Given the description of an element on the screen output the (x, y) to click on. 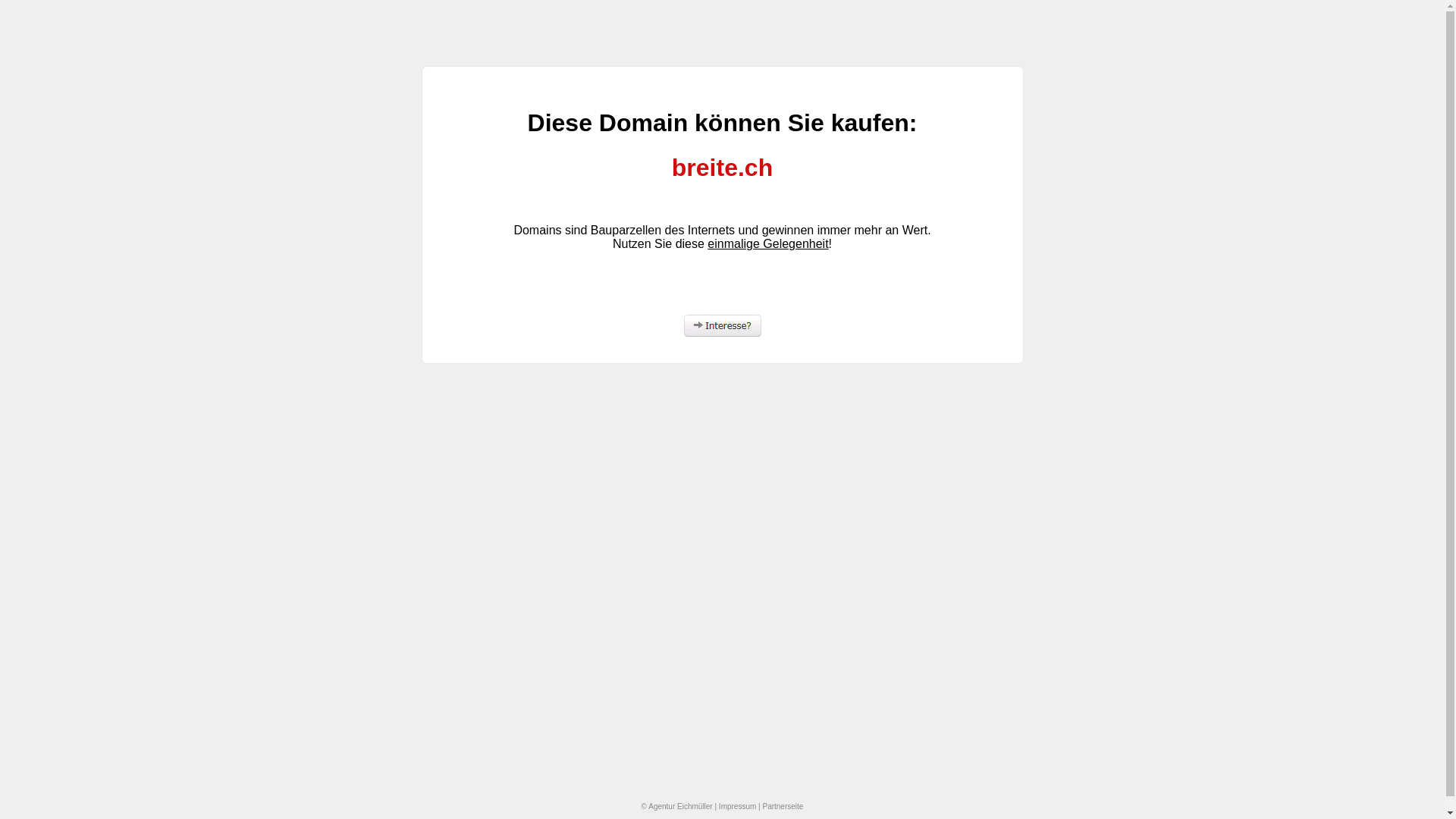
Impressum Element type: text (737, 806)
Partnerseite Element type: text (782, 806)
breite.ch Element type: text (721, 167)
